Given the description of an element on the screen output the (x, y) to click on. 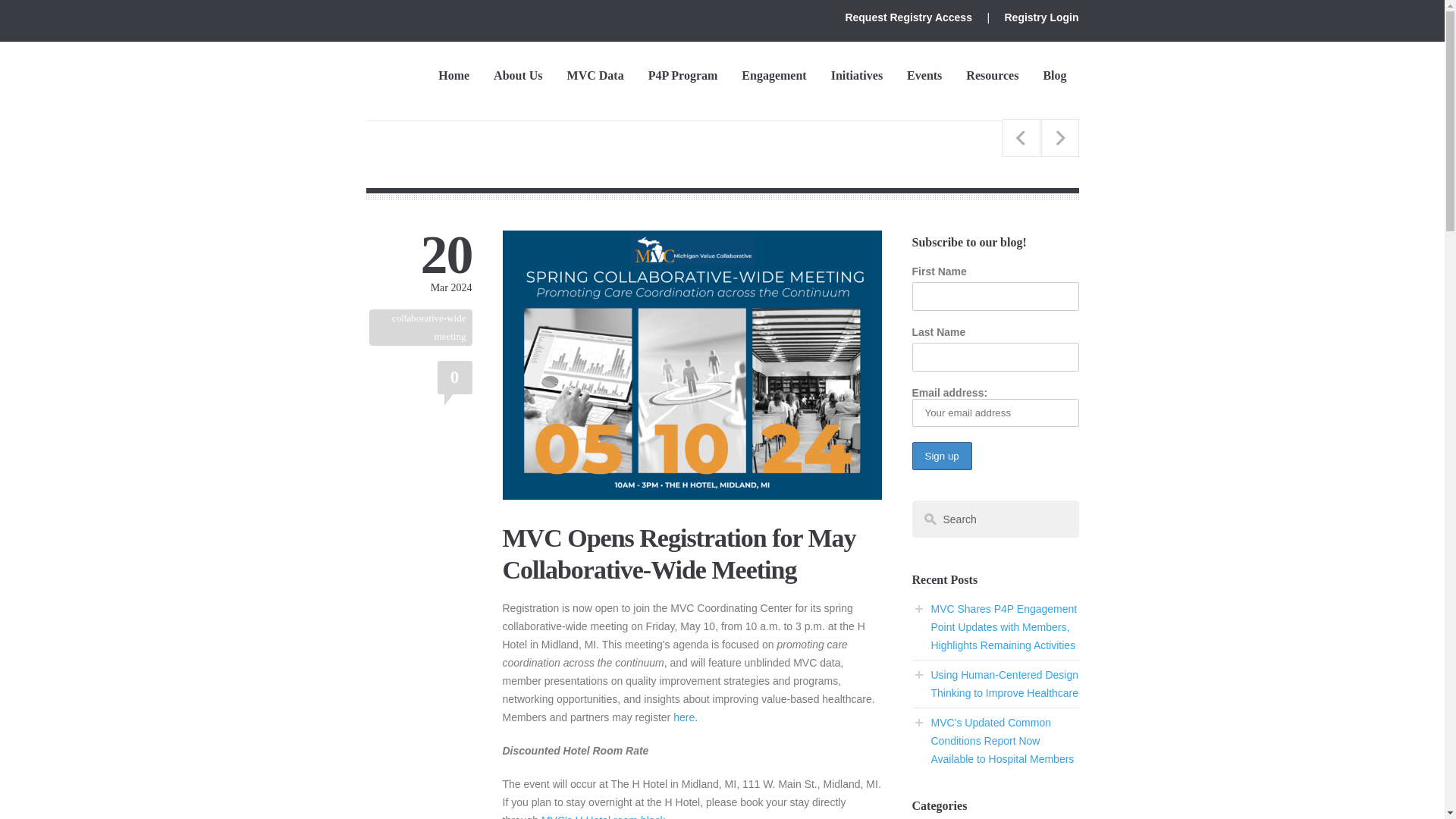
Request Registry Access (909, 17)
Engagement (773, 72)
Initiatives (856, 72)
Registry Login (1041, 17)
About Us (517, 72)
MVC Data (595, 72)
Search (994, 518)
here (683, 717)
